Given the description of an element on the screen output the (x, y) to click on. 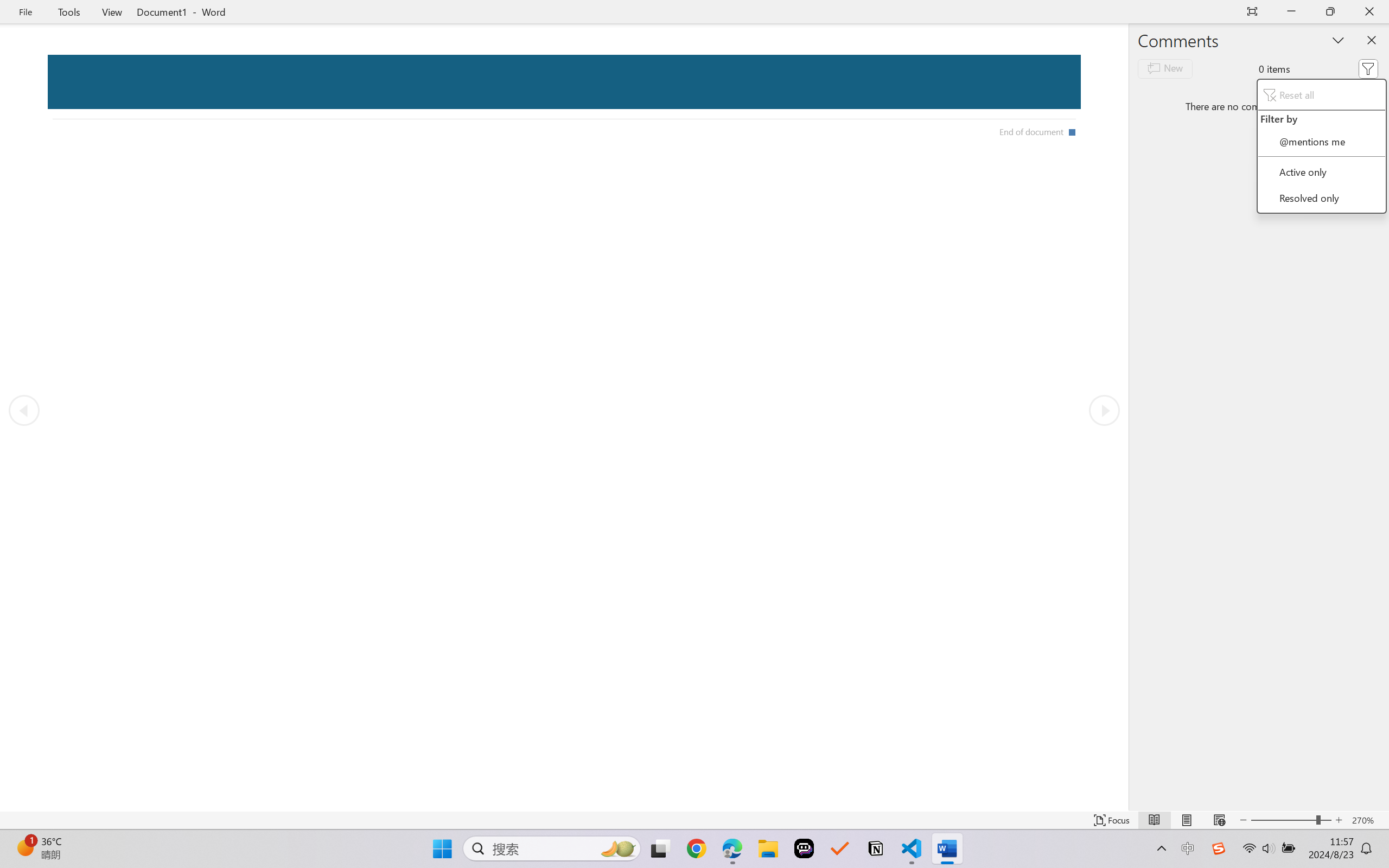
Text Size (1291, 819)
Class: Net UI Tool Window (1321, 145)
Reset all (1321, 94)
@mentions me (1321, 141)
